Given the description of an element on the screen output the (x, y) to click on. 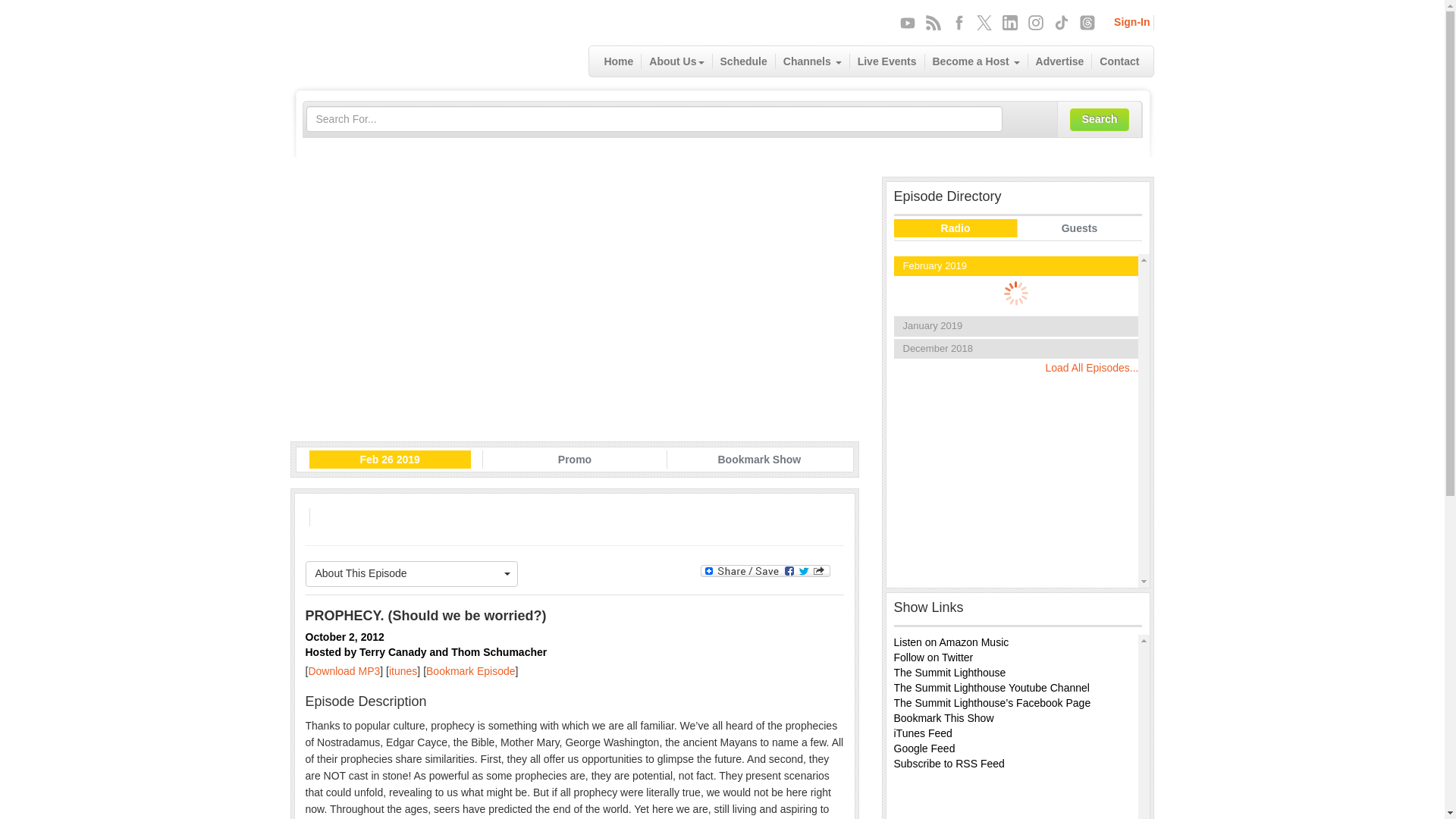
Feb 26 2019 (389, 459)
About This Episode (411, 574)
Search (1099, 119)
Become a Host (975, 61)
itunes (402, 671)
Contact (1119, 61)
Live Events (887, 61)
Schedule (744, 61)
Sign-In (1131, 21)
Advertise (1060, 61)
Home (618, 61)
About Us (676, 61)
Promo (575, 459)
Bookmark Show (759, 459)
Bookmark Episode (470, 671)
